Given the description of an element on the screen output the (x, y) to click on. 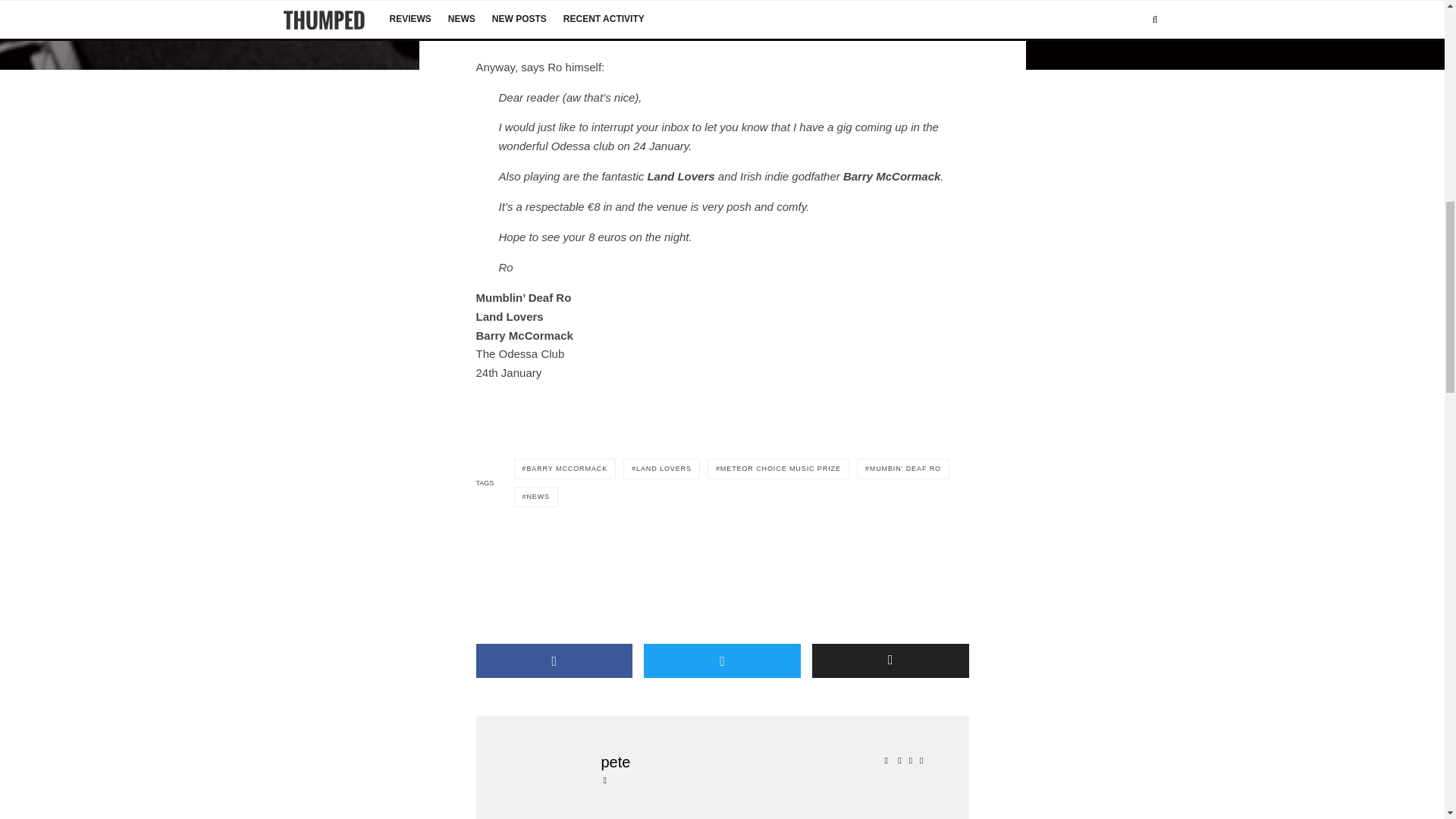
pete (764, 762)
MUMBIN' DEAF RO (903, 468)
NEWS (536, 496)
LAND LOVERS (661, 468)
BARRY MCCORMACK (564, 468)
METEOR CHOICE MUSIC PRIZE (777, 468)
